Given the description of an element on the screen output the (x, y) to click on. 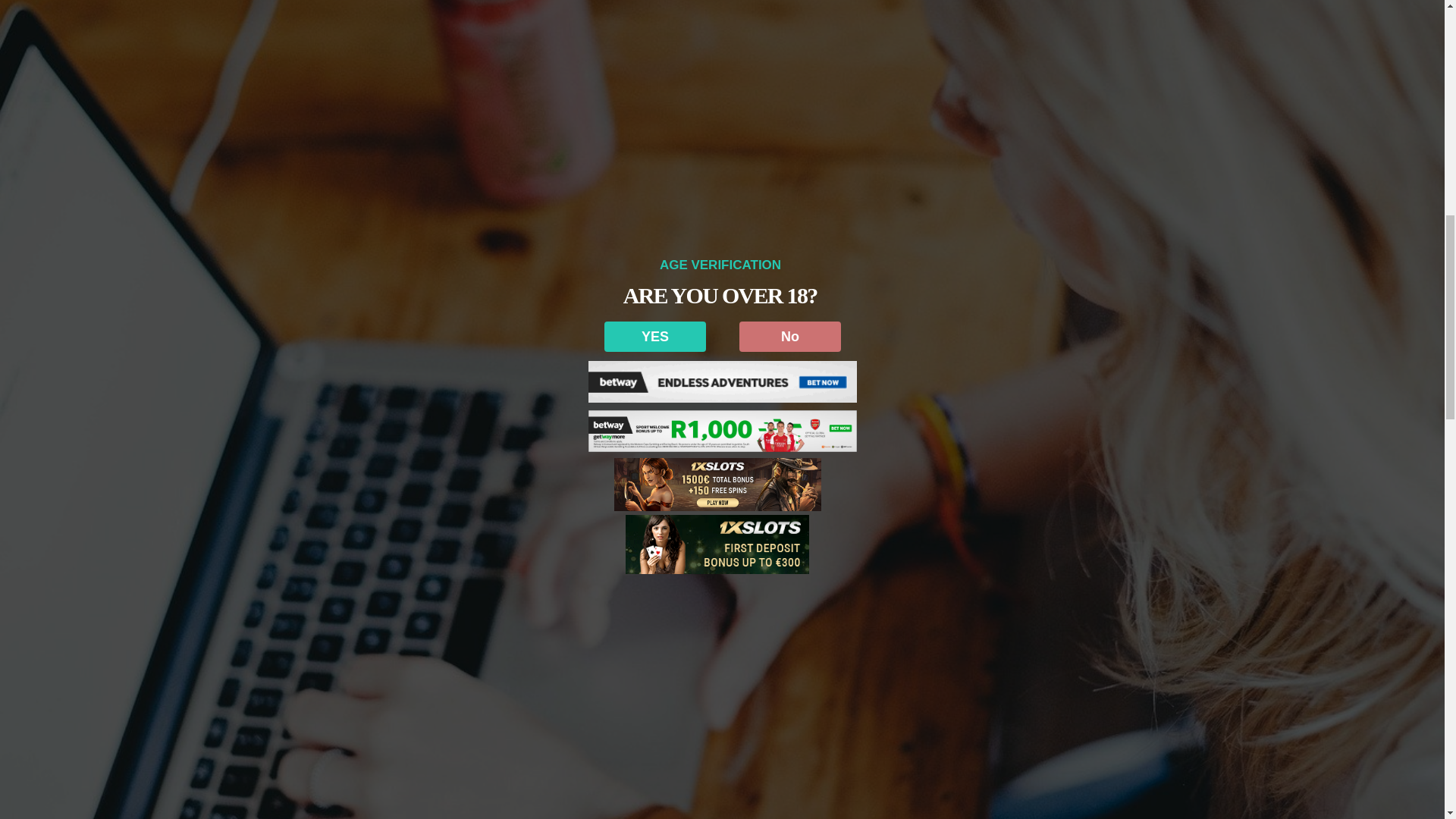
Eliud Kipchoge, won in the Tokyo Olympic marathon (1121, 392)
Triumphants on day 11 of the Olympics: Ese Brume (1116, 317)
2020 Olympics: Blessing Oborududu takes silver (1115, 243)
